Given the description of an element on the screen output the (x, y) to click on. 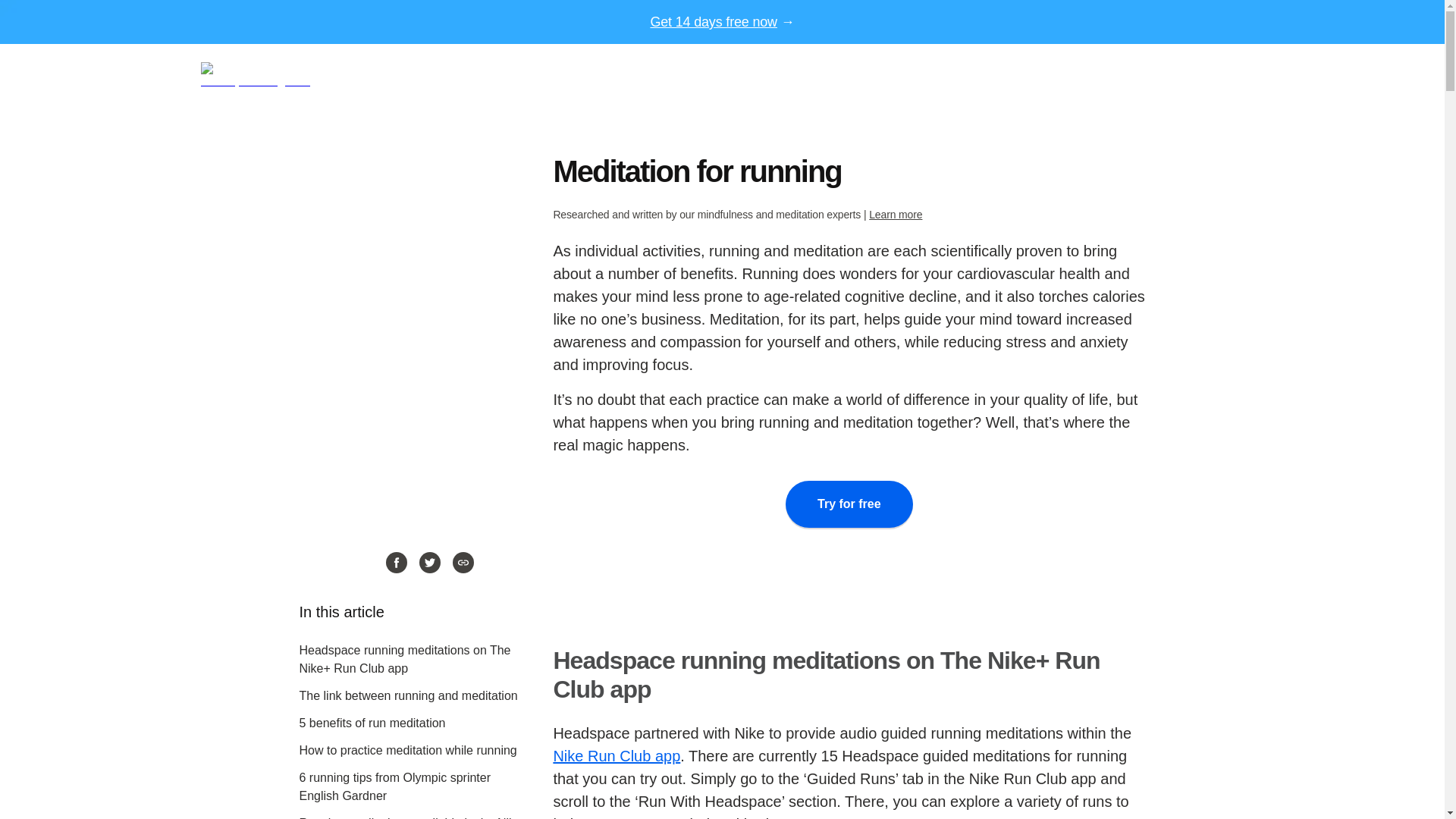
Learn more (895, 214)
How to practice meditation while running (407, 749)
5 benefits of run meditation (371, 722)
The link between running and meditation (407, 695)
Nike Run Club app (616, 755)
6 running tips from Olympic sprinter English Gardner (394, 786)
Try for free (849, 503)
